Given the description of an element on the screen output the (x, y) to click on. 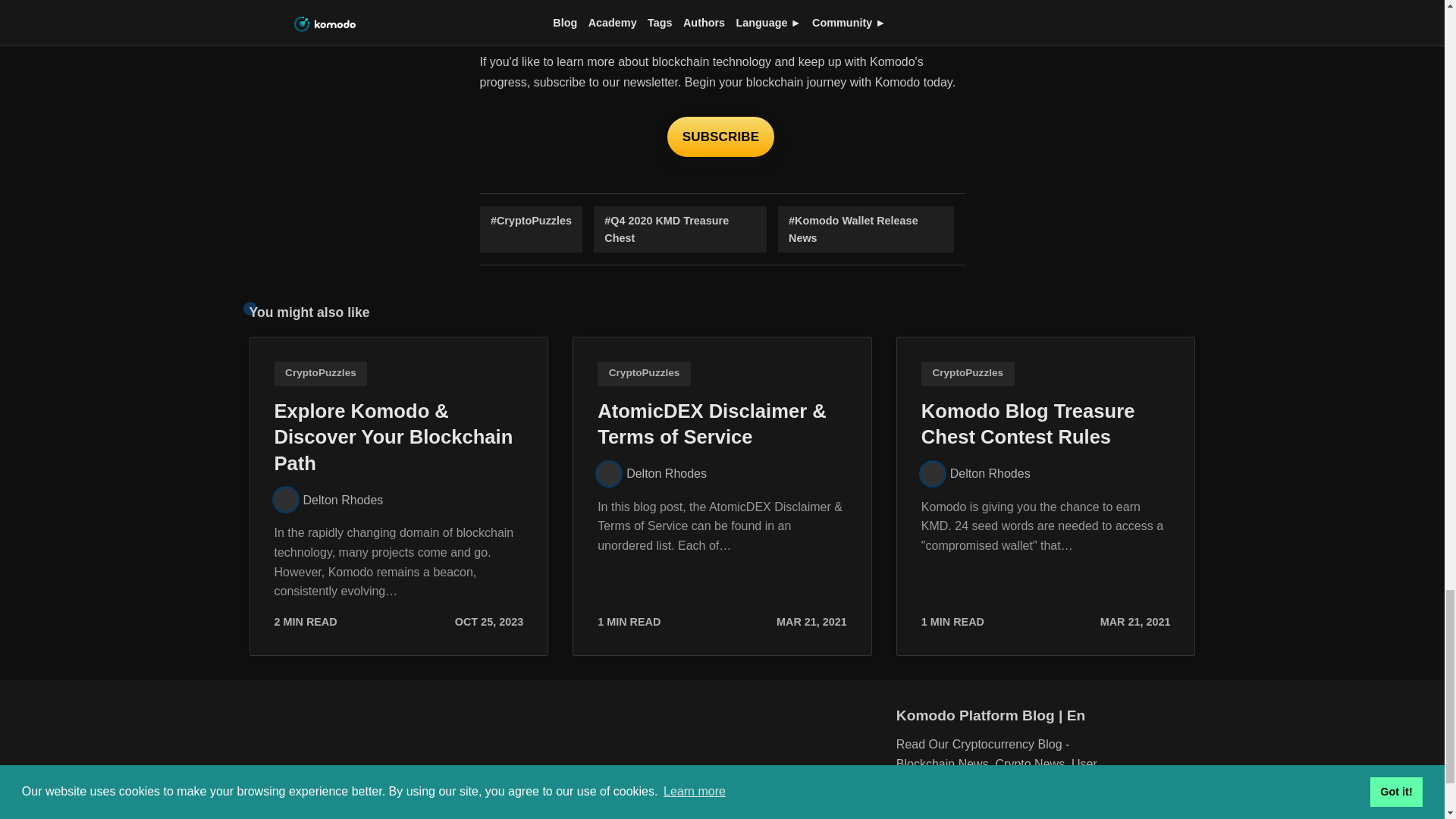
CryptoPuzzles (530, 228)
Linkedin (1084, 812)
Komodo Wallet Release News (865, 228)
Telegram (1049, 812)
Q4 2020 KMD Treasure Chest (680, 228)
Twitter (980, 812)
Discord (910, 812)
Youtube (1015, 812)
Github (945, 812)
